Given the description of an element on the screen output the (x, y) to click on. 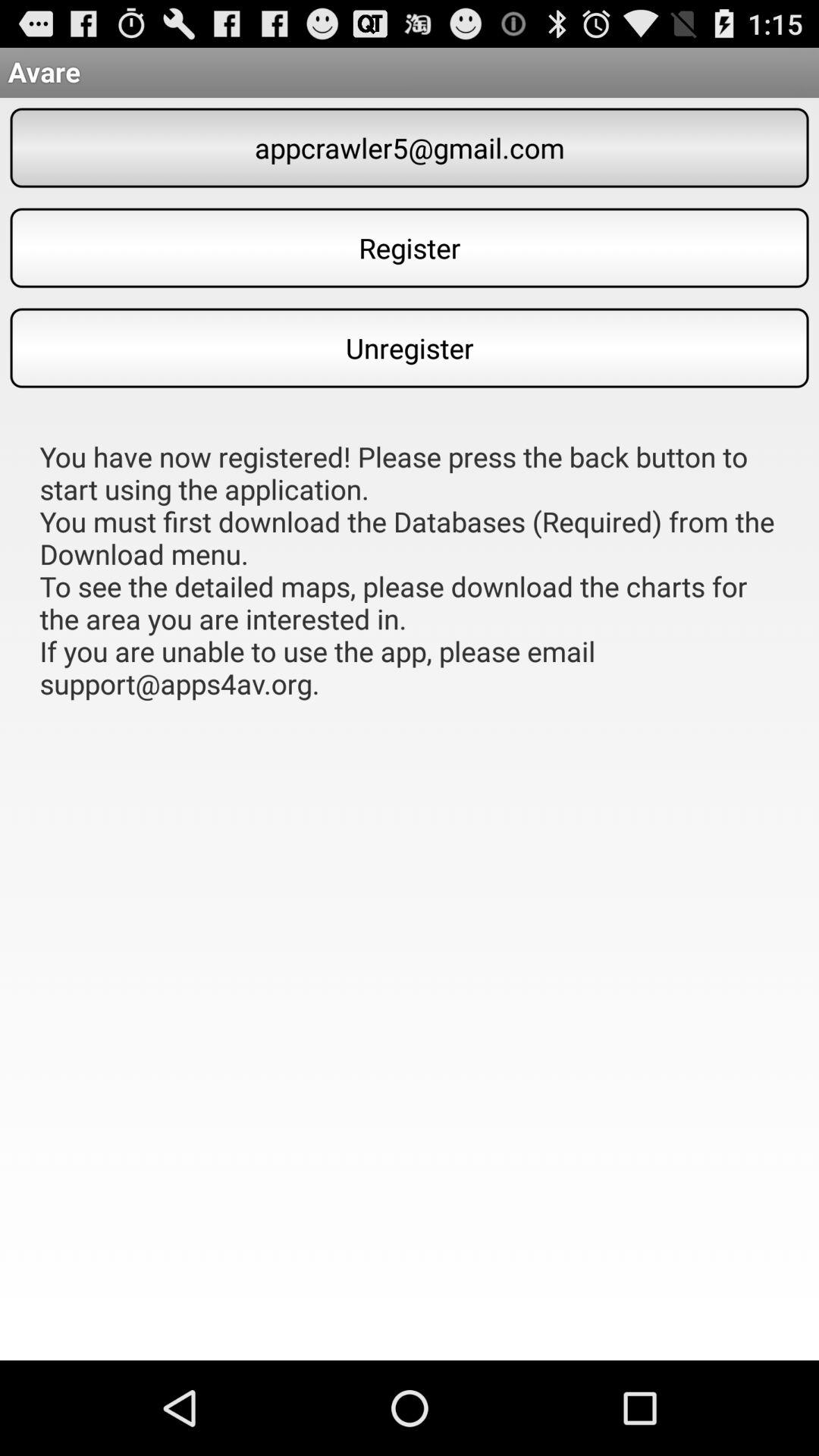
press register item (409, 247)
